Given the description of an element on the screen output the (x, y) to click on. 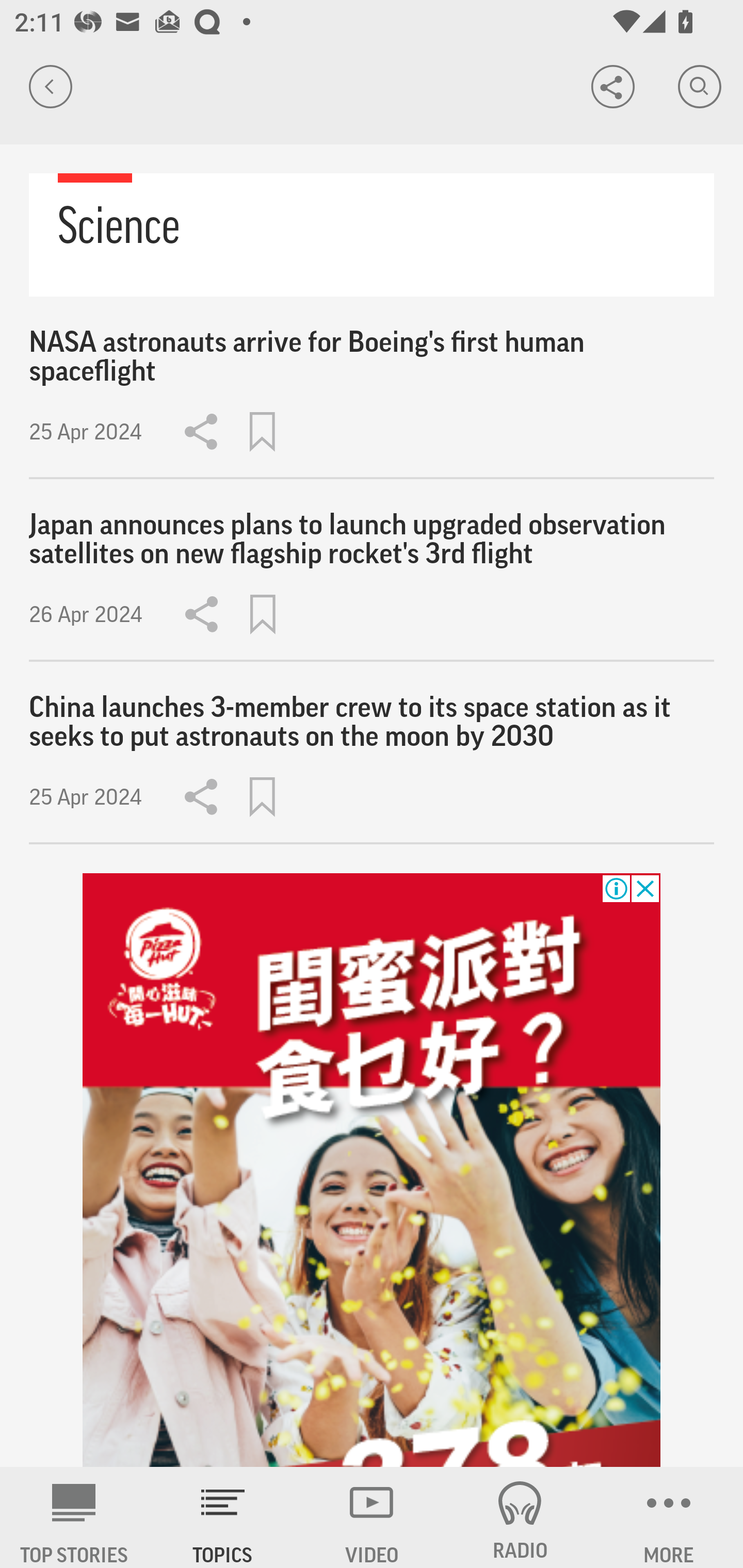
Advertisement (371, 1170)
AP News TOP STORIES (74, 1517)
TOPICS (222, 1517)
VIDEO (371, 1517)
RADIO (519, 1517)
MORE (668, 1517)
